Given the description of an element on the screen output the (x, y) to click on. 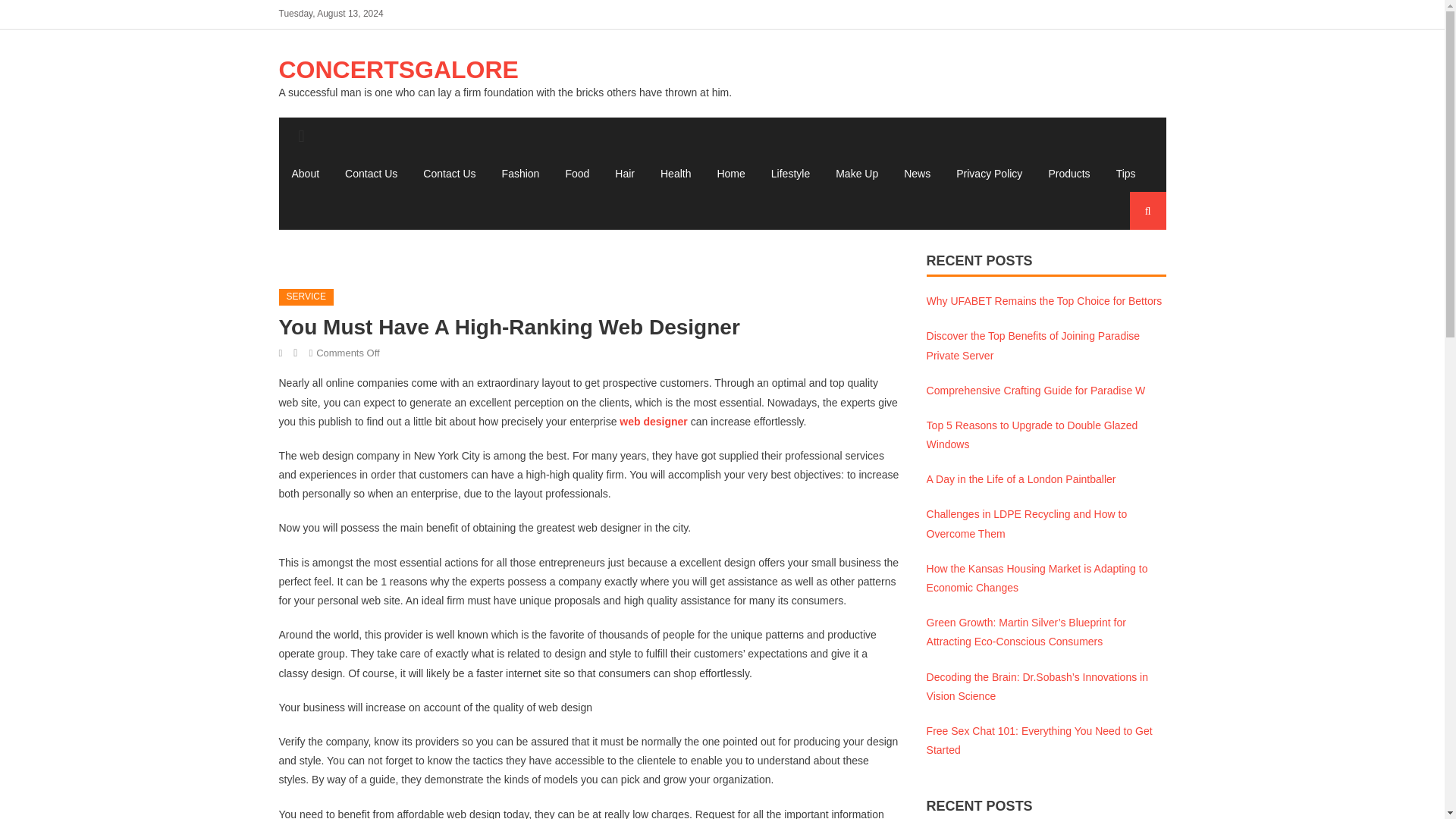
Food (576, 173)
Contact Us (371, 173)
Contact Us (449, 173)
Products (1068, 173)
web designer (653, 421)
Lifestyle (790, 173)
Home (729, 173)
Tips (1126, 173)
Privacy Policy (988, 173)
